Given the description of an element on the screen output the (x, y) to click on. 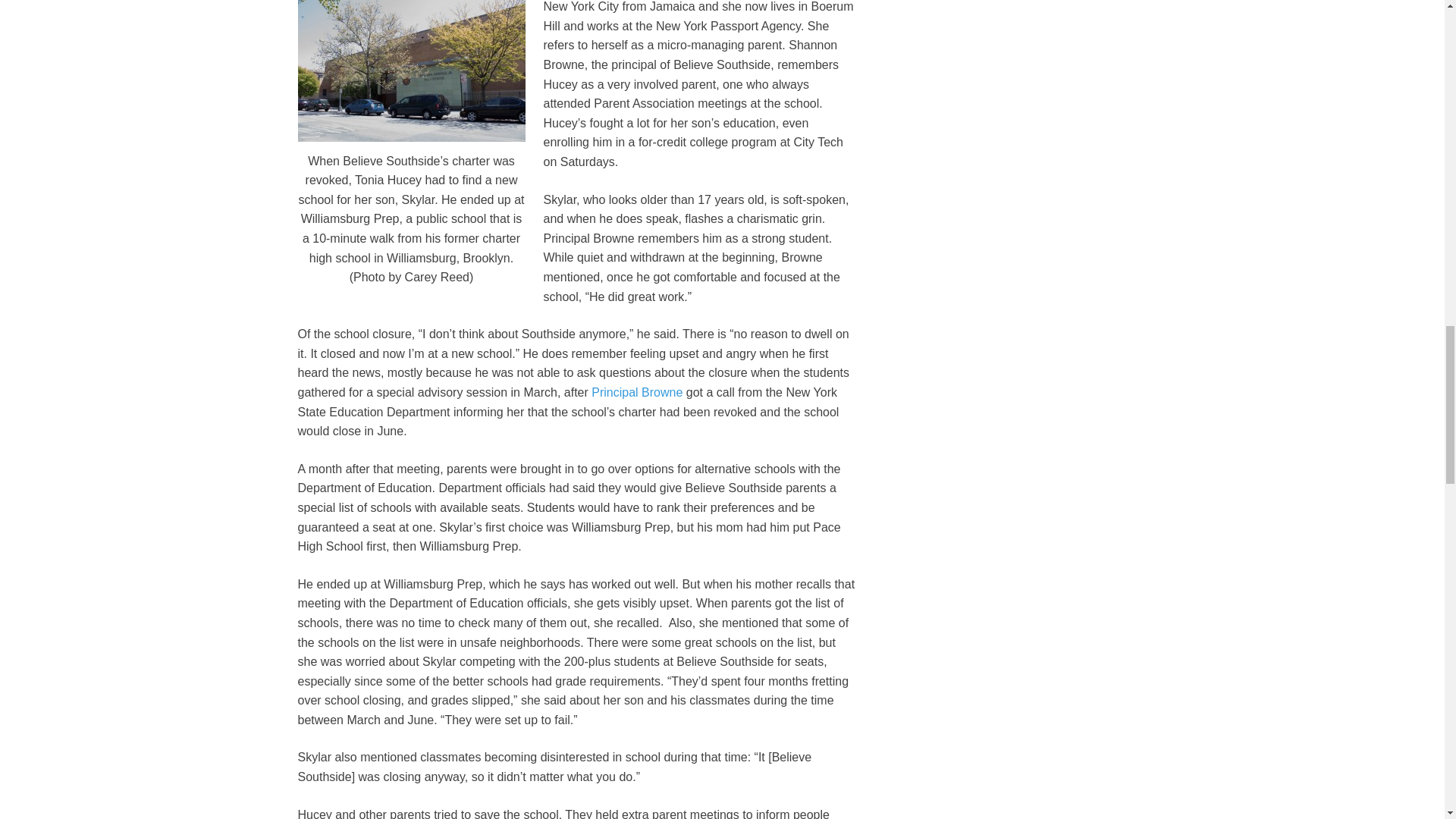
Williamsburg Prep (410, 70)
